Given the description of an element on the screen output the (x, y) to click on. 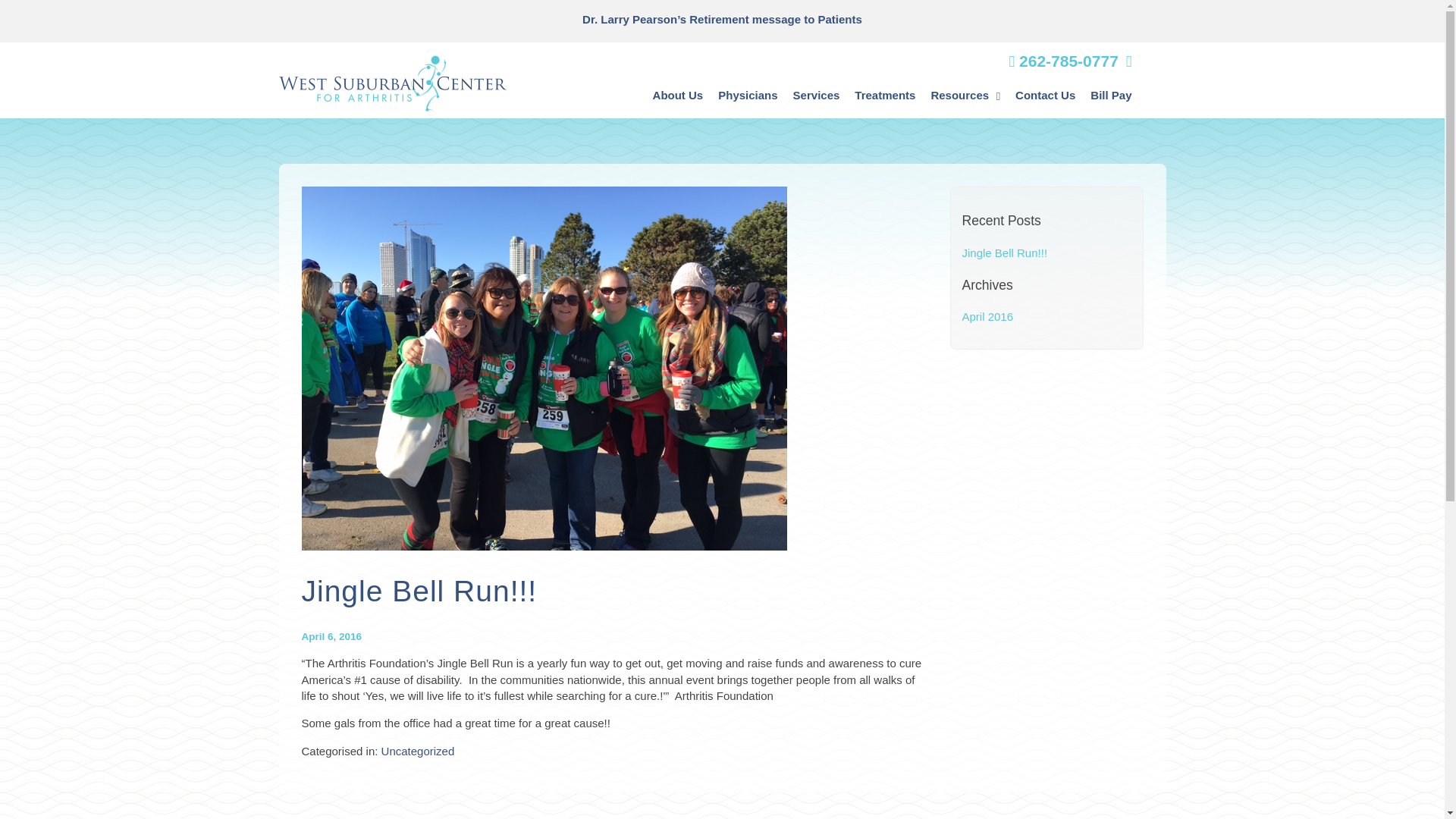
Contact Us (1045, 94)
Services (816, 94)
Jingle Bell Run!!! (544, 541)
Jingle Bell Run!!! (419, 590)
Treatments (885, 94)
Physicians (747, 94)
262-785-0777 (1063, 60)
April 2016 (986, 316)
Uncategorized (417, 750)
About Us (678, 94)
Jingle Bell Run!!! (1003, 252)
Bill Pay (1110, 94)
Resources (965, 94)
Jingle Bell Run!!! (419, 590)
